Given the description of an element on the screen output the (x, y) to click on. 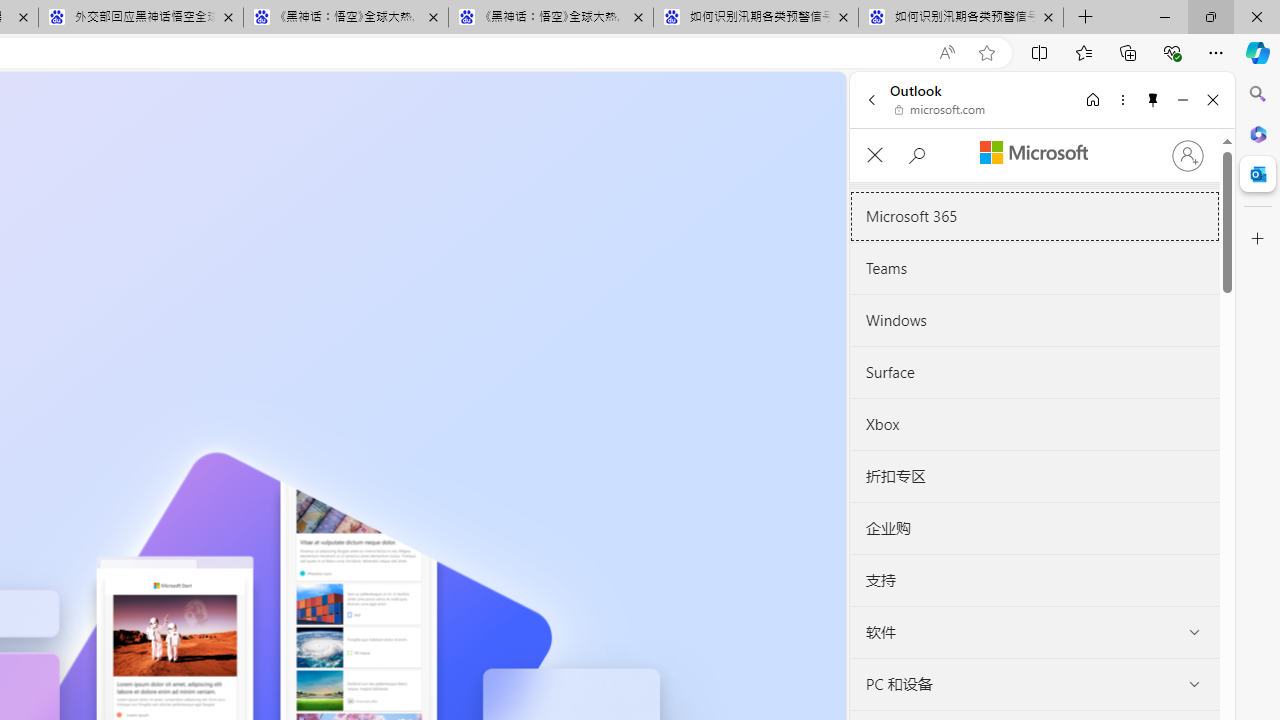
Teams (1034, 268)
